Given the description of an element on the screen output the (x, y) to click on. 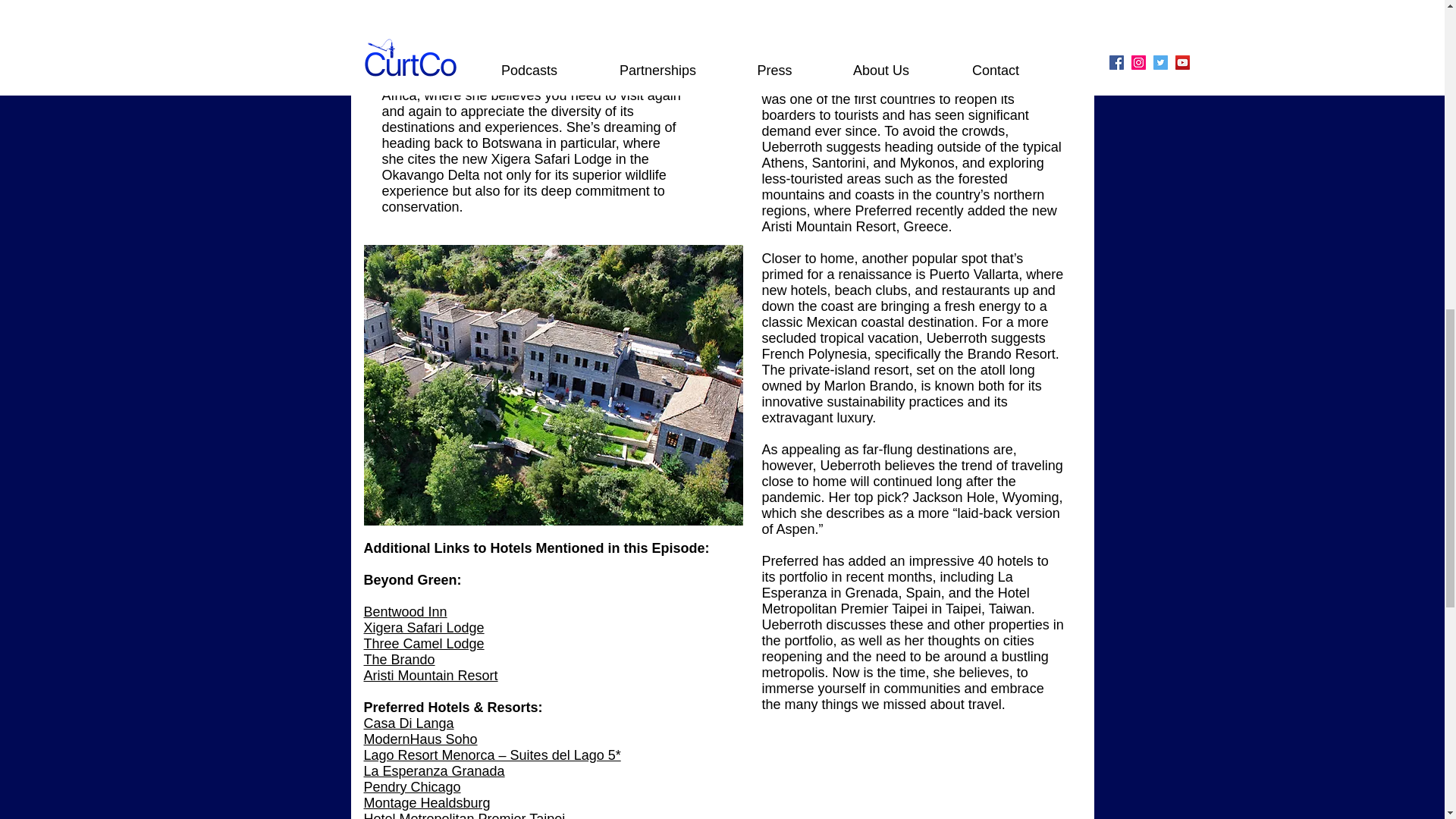
Casa Di Langa (409, 723)
ModernHaus Soho (420, 739)
Pendry Chicago (412, 786)
Xigera Safari Lodge (424, 627)
Bentwood Inn (405, 611)
Hotel Metropolitan Premier Taipei  (466, 815)
The Brando (399, 659)
Three Camel Lodge (424, 643)
Montage Healdsburg (427, 802)
Aristi Mountain Resort (430, 675)
La Esperanza Granada (434, 770)
